Given the description of an element on the screen output the (x, y) to click on. 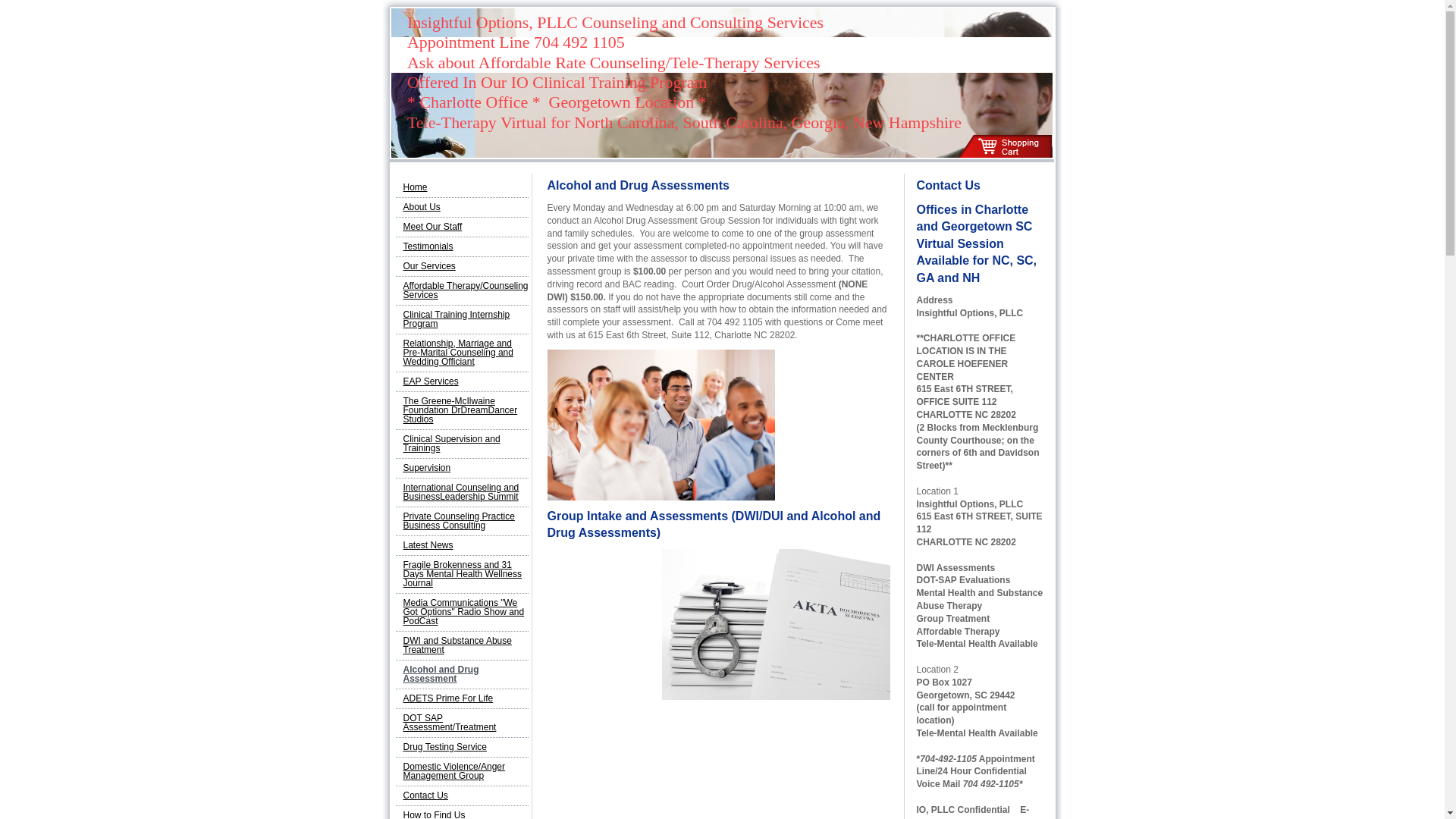
Latest News (462, 546)
Clinical Training Internship Program (462, 319)
Meet Our Staff (462, 227)
Testimonials (462, 247)
Contact Us (462, 795)
EAP Services (462, 382)
DWI and Substance Abuse Treatment (462, 645)
Home (462, 188)
Private Counseling Practice Business Consulting (462, 521)
Our Services (462, 266)
